Given the description of an element on the screen output the (x, y) to click on. 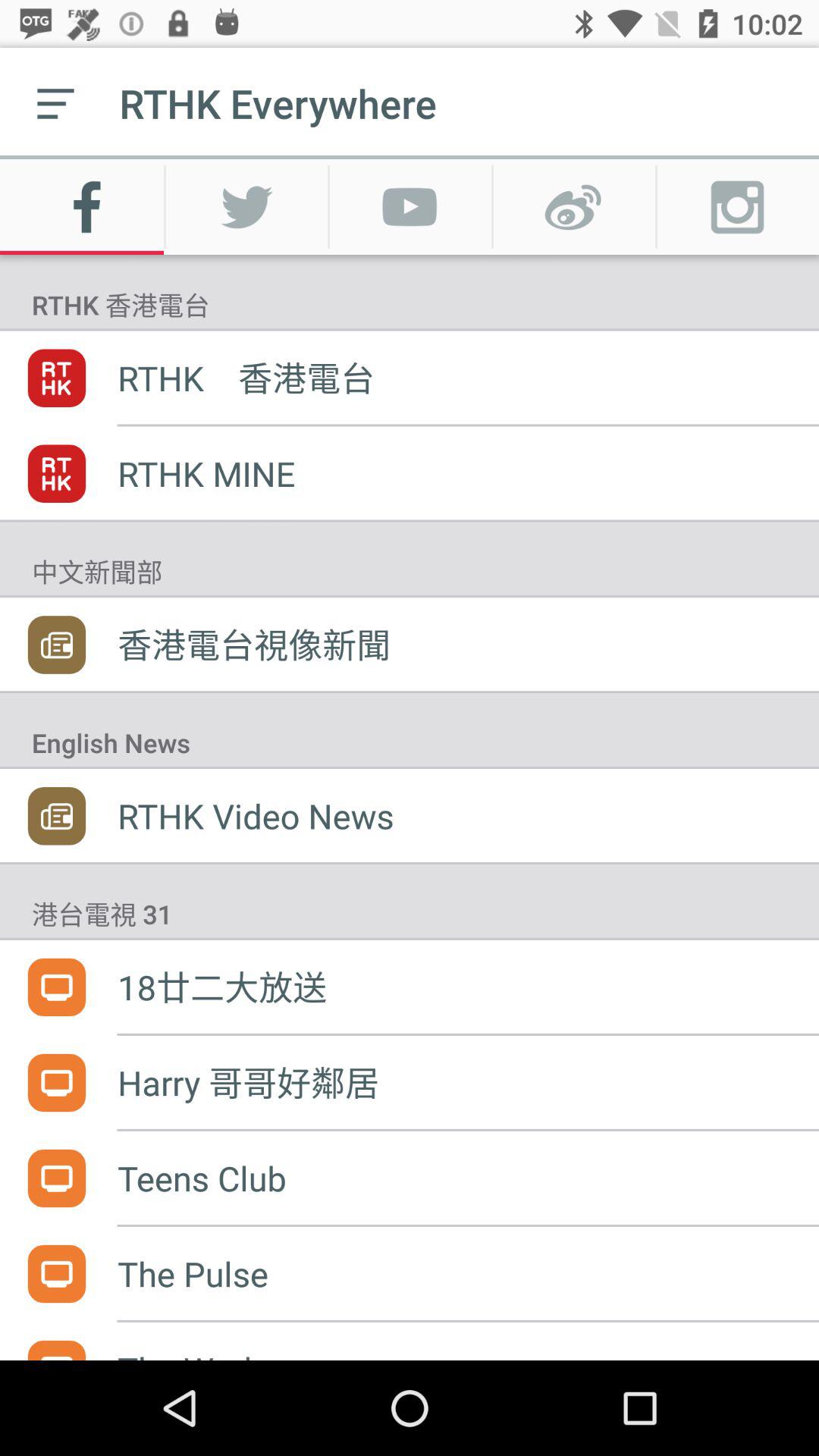
choose the icon to the left of rthk everywhere item (55, 103)
